Given the description of an element on the screen output the (x, y) to click on. 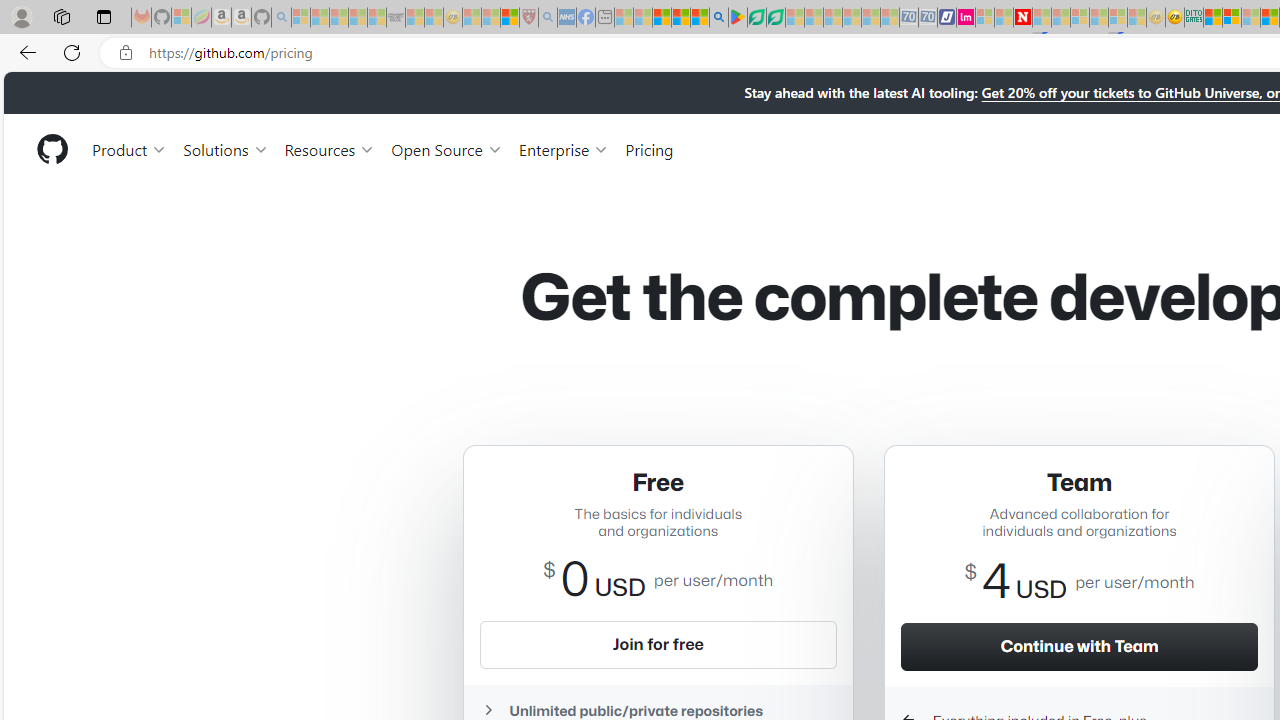
Enterprise (563, 148)
Latest Politics News & Archive | Newsweek.com (1022, 17)
Local - MSN (509, 17)
Enterprise (563, 148)
